Given the description of an element on the screen output the (x, y) to click on. 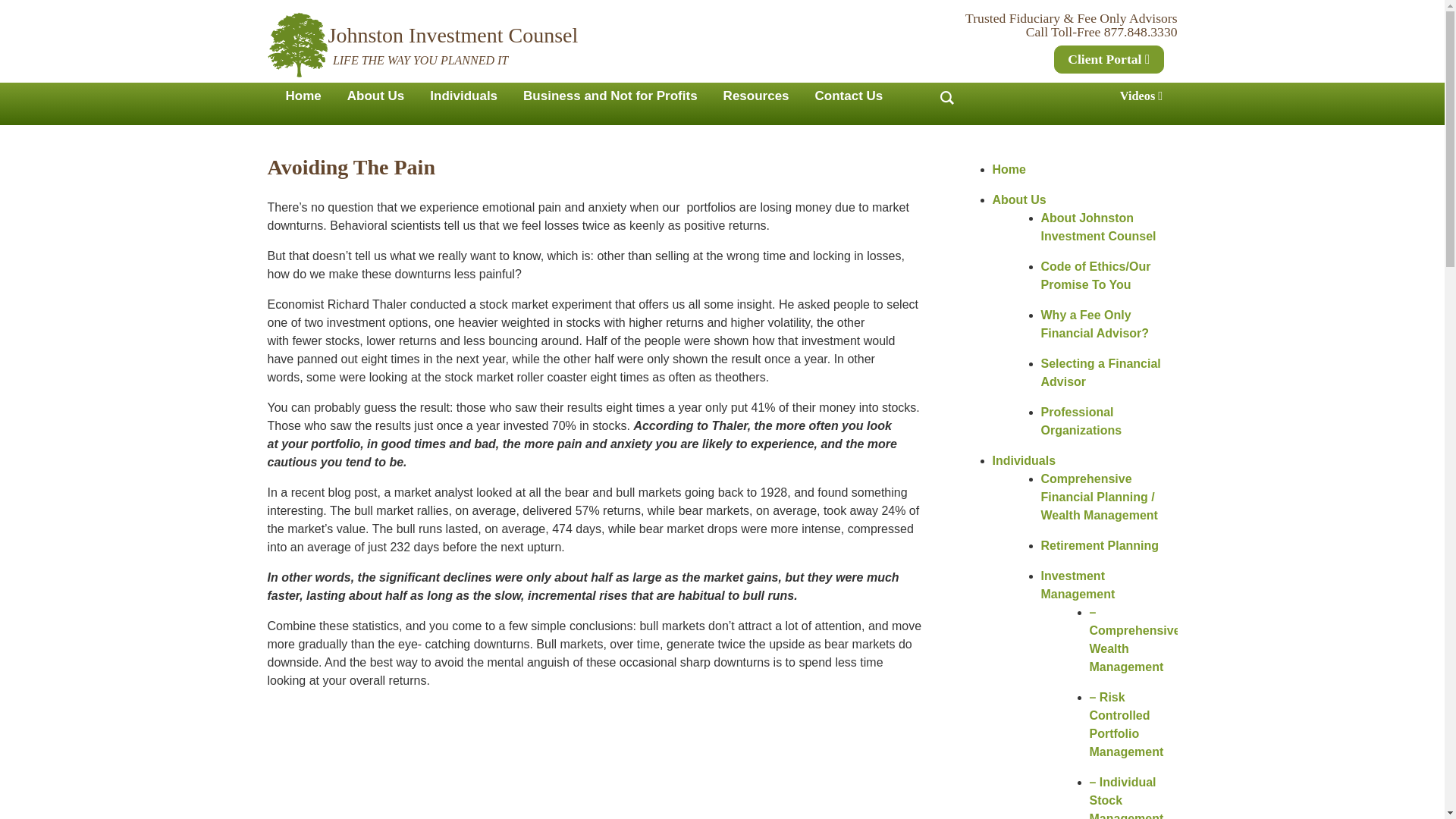
Resources (756, 96)
Business and Not for Profits (609, 96)
Home (302, 96)
Johnston Investment Counsel (452, 34)
About Us (375, 96)
Individuals (463, 96)
Client Portal  (1108, 58)
Search for: (948, 95)
Contact Us (849, 96)
